Given the description of an element on the screen output the (x, y) to click on. 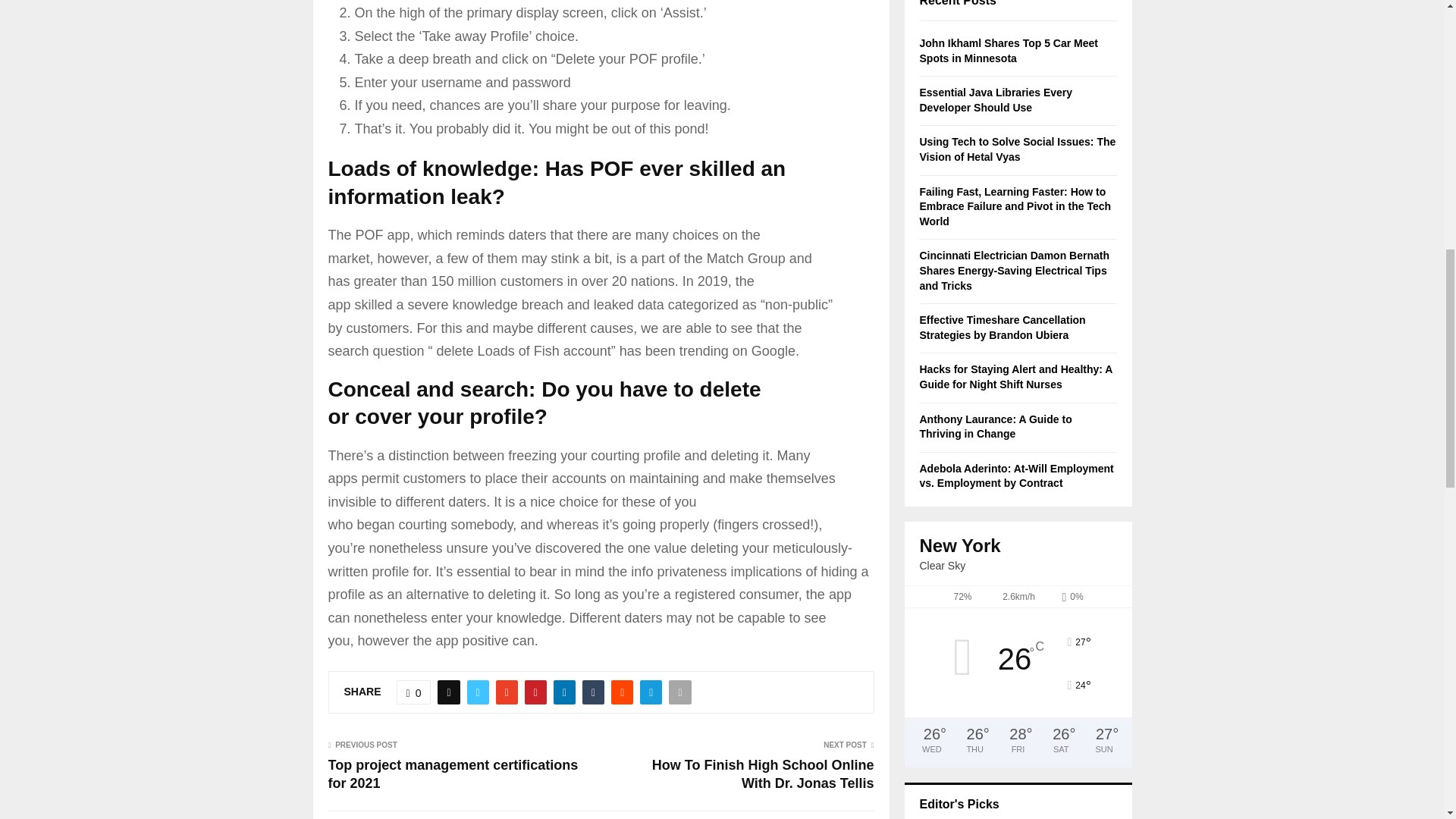
Like (413, 692)
